Given the description of an element on the screen output the (x, y) to click on. 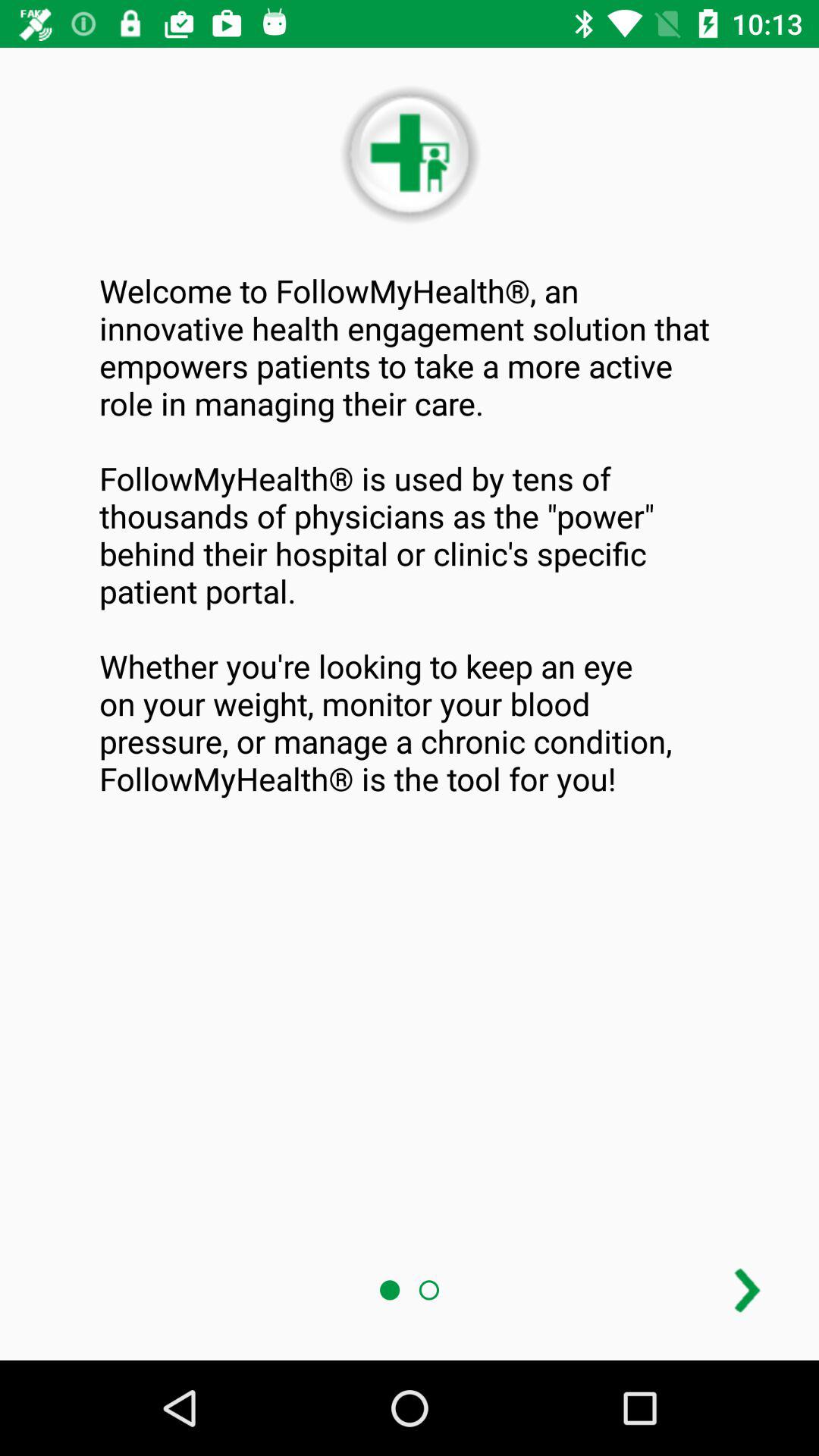
click the item at the center (409, 534)
